Given the description of an element on the screen output the (x, y) to click on. 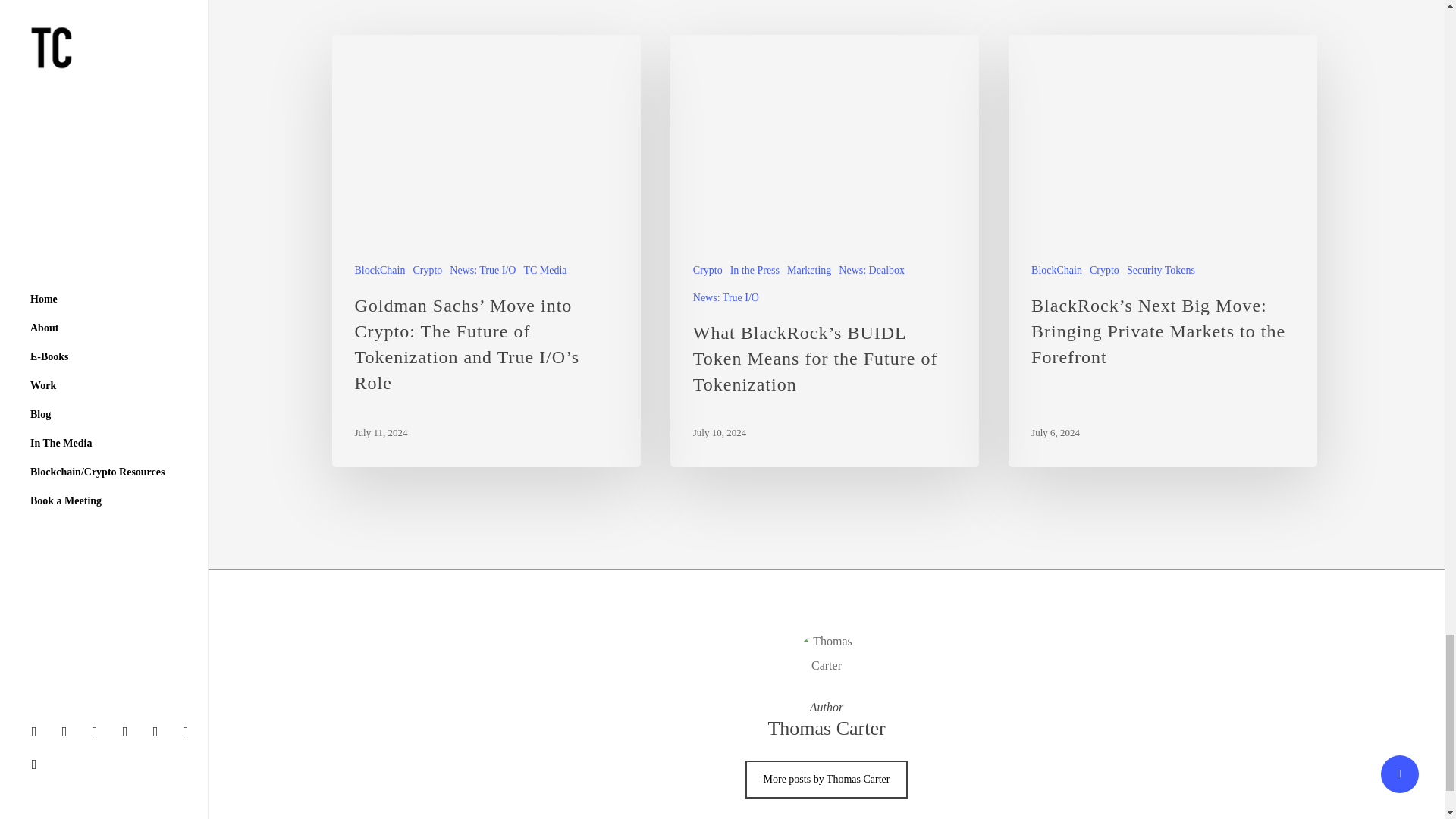
TC Media (544, 269)
Crypto (427, 269)
BlockChain (380, 269)
